Given the description of an element on the screen output the (x, y) to click on. 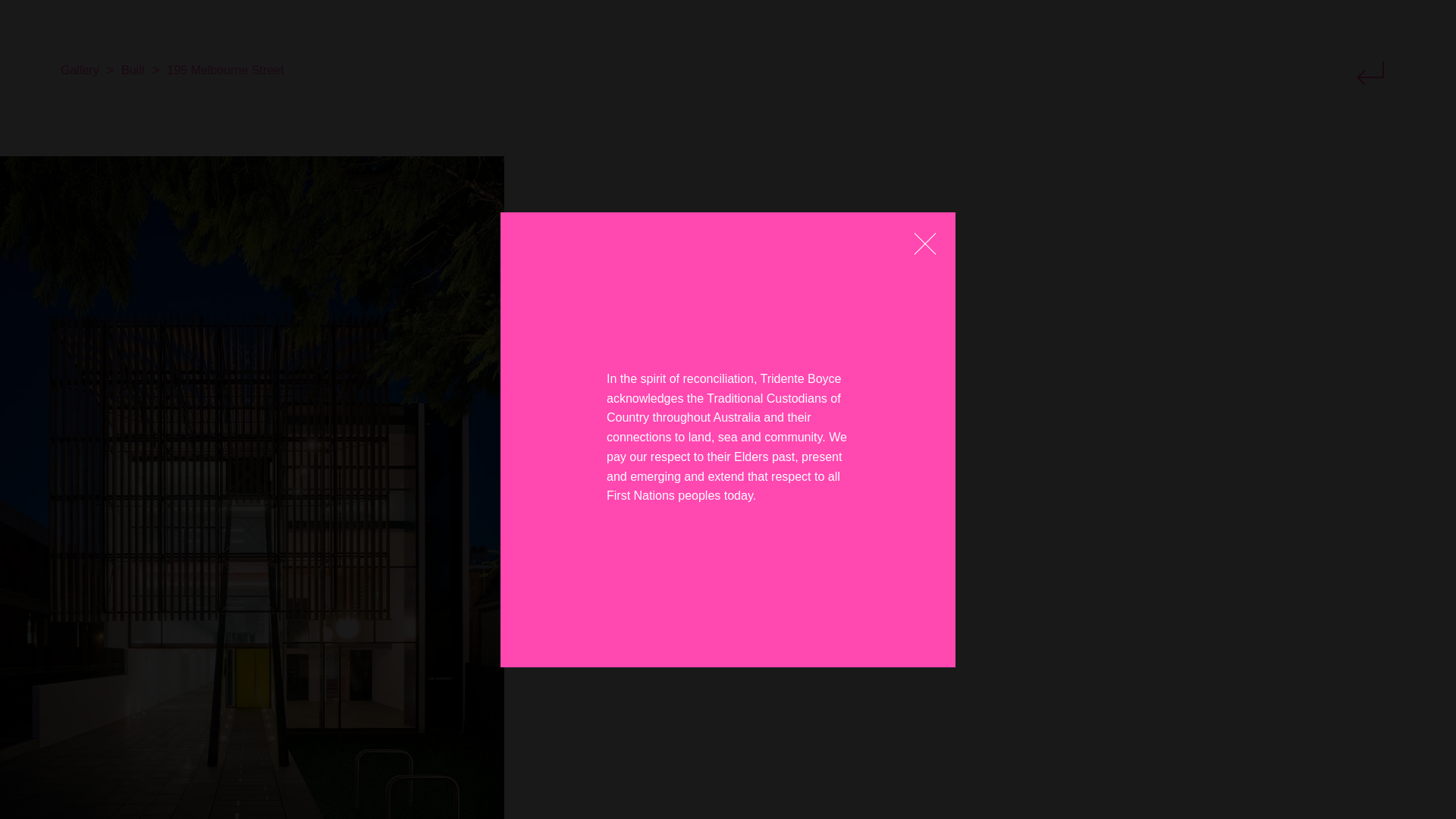
Gallery (80, 69)
Built (132, 69)
